Given the description of an element on the screen output the (x, y) to click on. 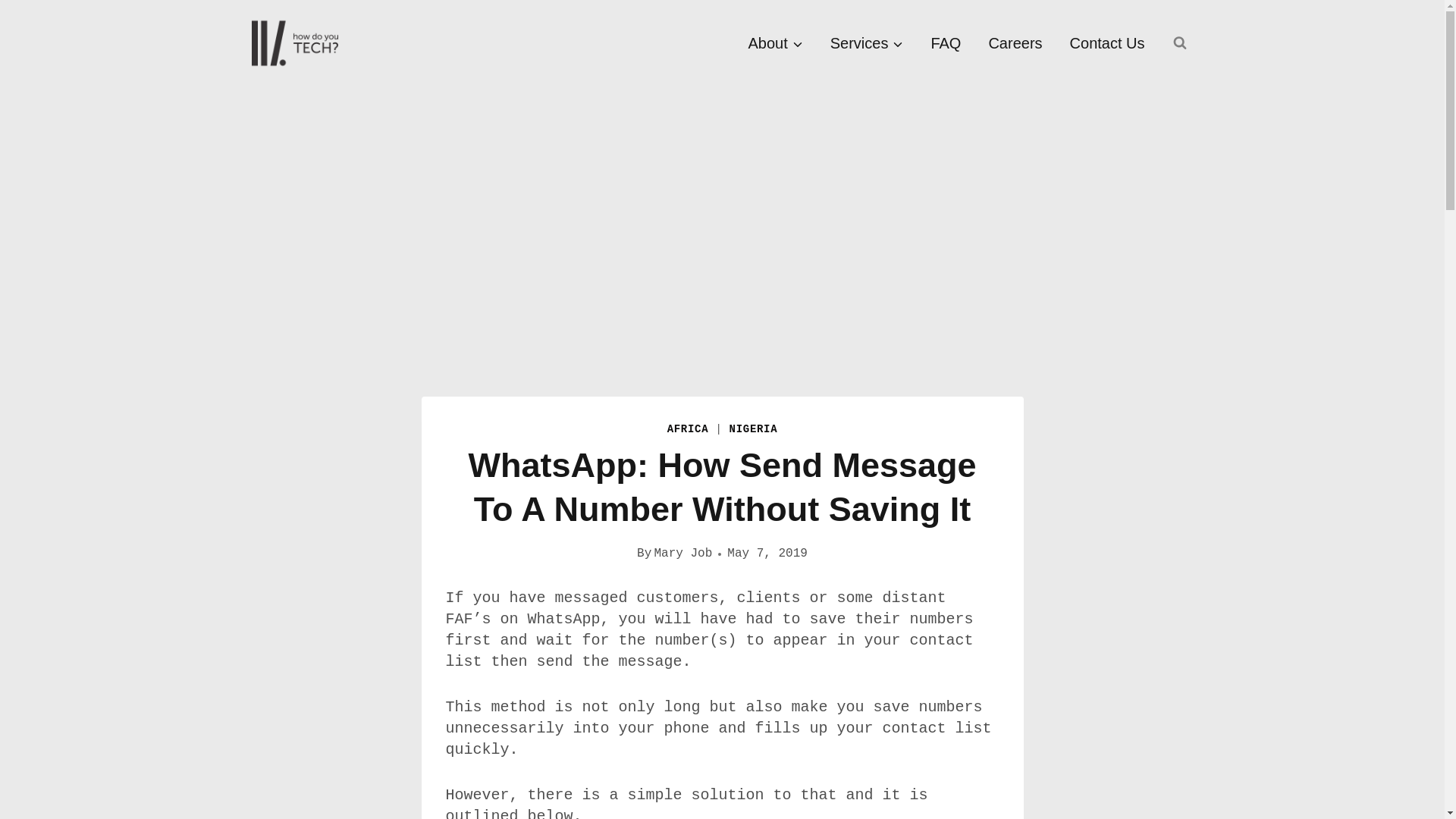
Mary Job (682, 553)
Services (866, 43)
About (774, 43)
AFRICA (687, 428)
FAQ (945, 43)
Careers (1014, 43)
Contact Us (1107, 43)
NIGERIA (753, 428)
